Given the description of an element on the screen output the (x, y) to click on. 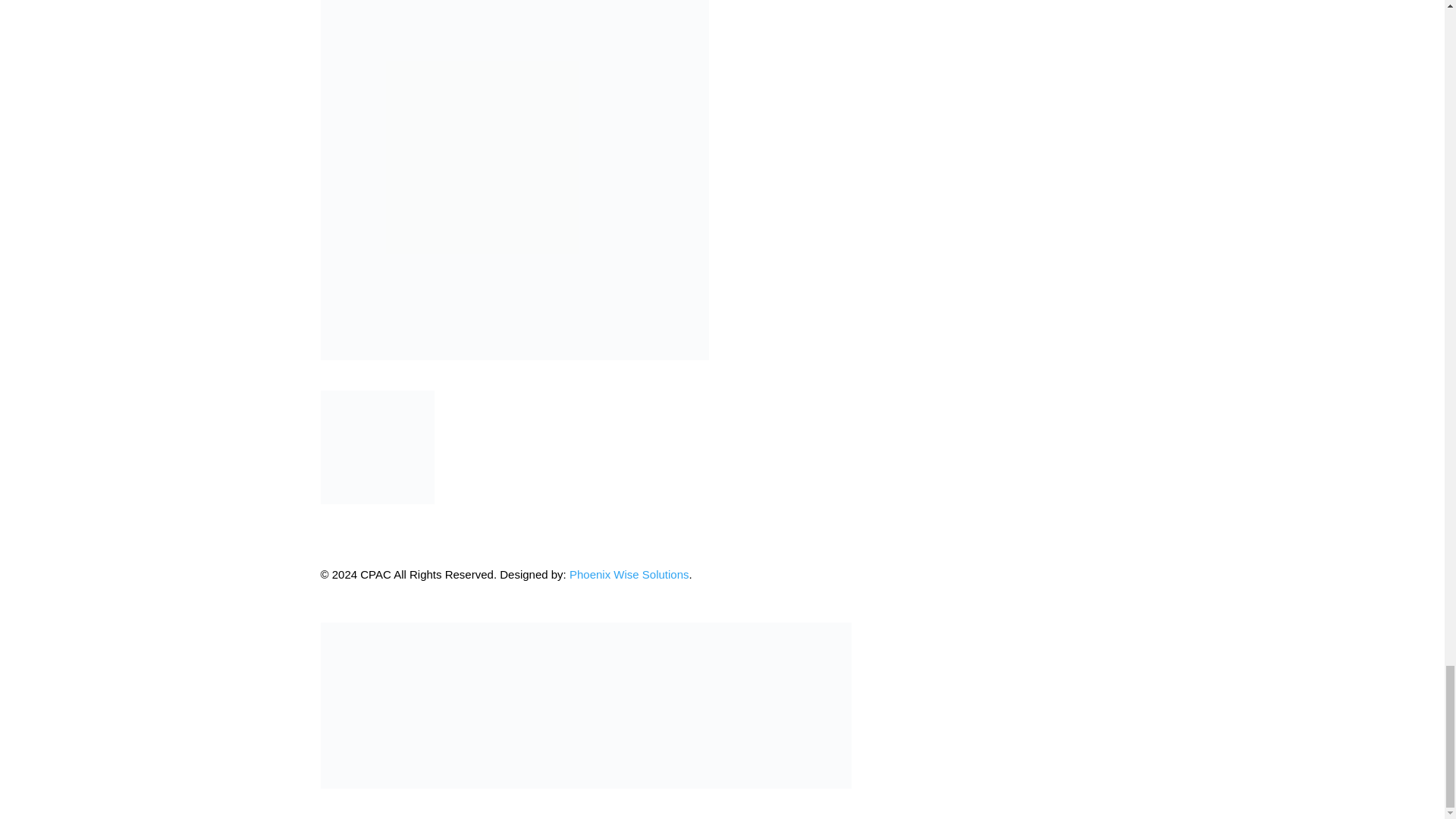
CPAC New Wechat Qrcode (376, 447)
comodo-700-white (585, 705)
